Given the description of an element on the screen output the (x, y) to click on. 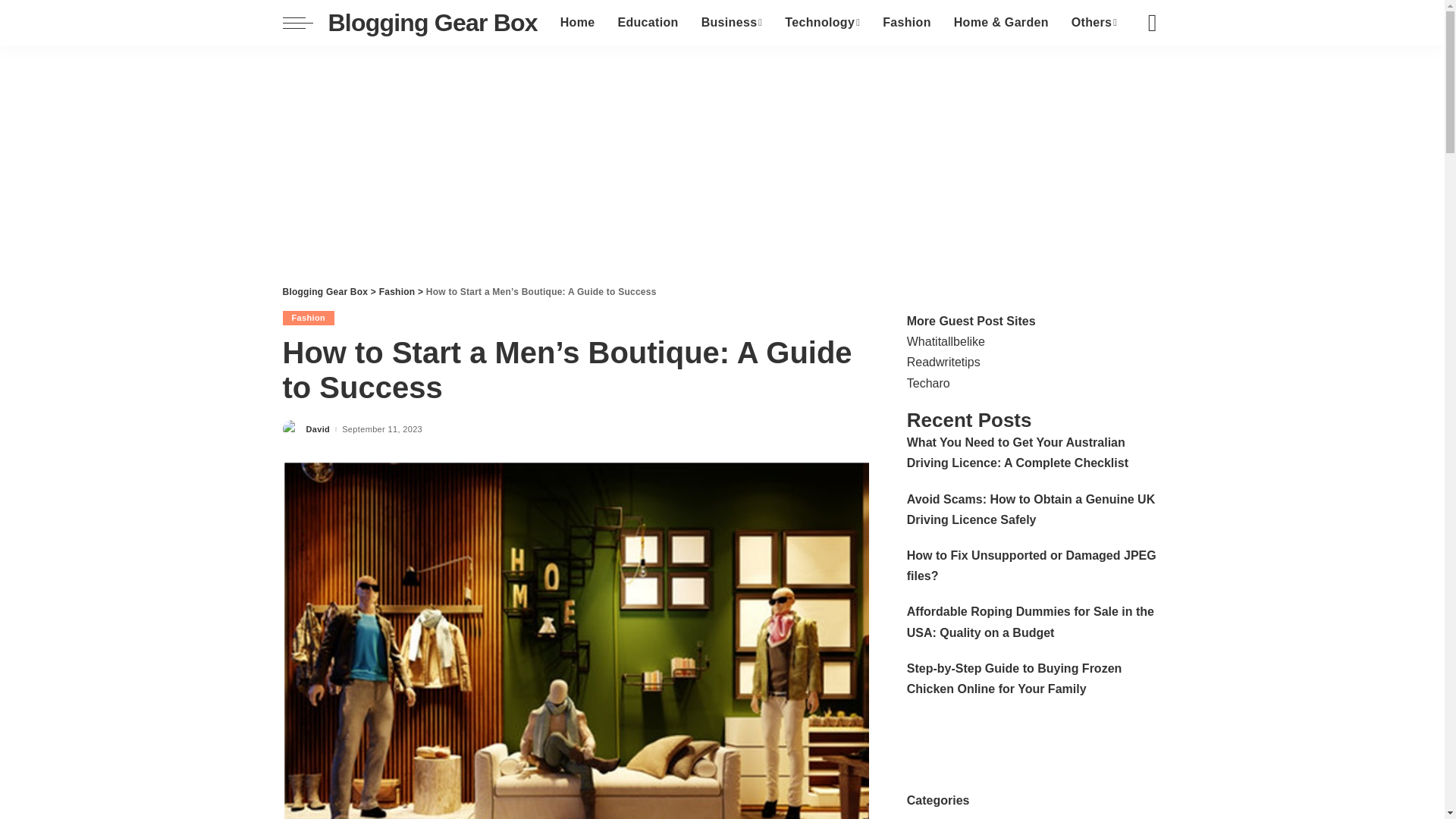
Technology (821, 22)
Blogging Gear Box (432, 22)
Go to the Fashion Category archives. (396, 291)
Fashion (906, 22)
Blogging         Gear Box (432, 22)
Business (732, 22)
Go to Blogging         Gear Box. (325, 291)
Others (1094, 22)
Education (646, 22)
Home (577, 22)
